Given the description of an element on the screen output the (x, y) to click on. 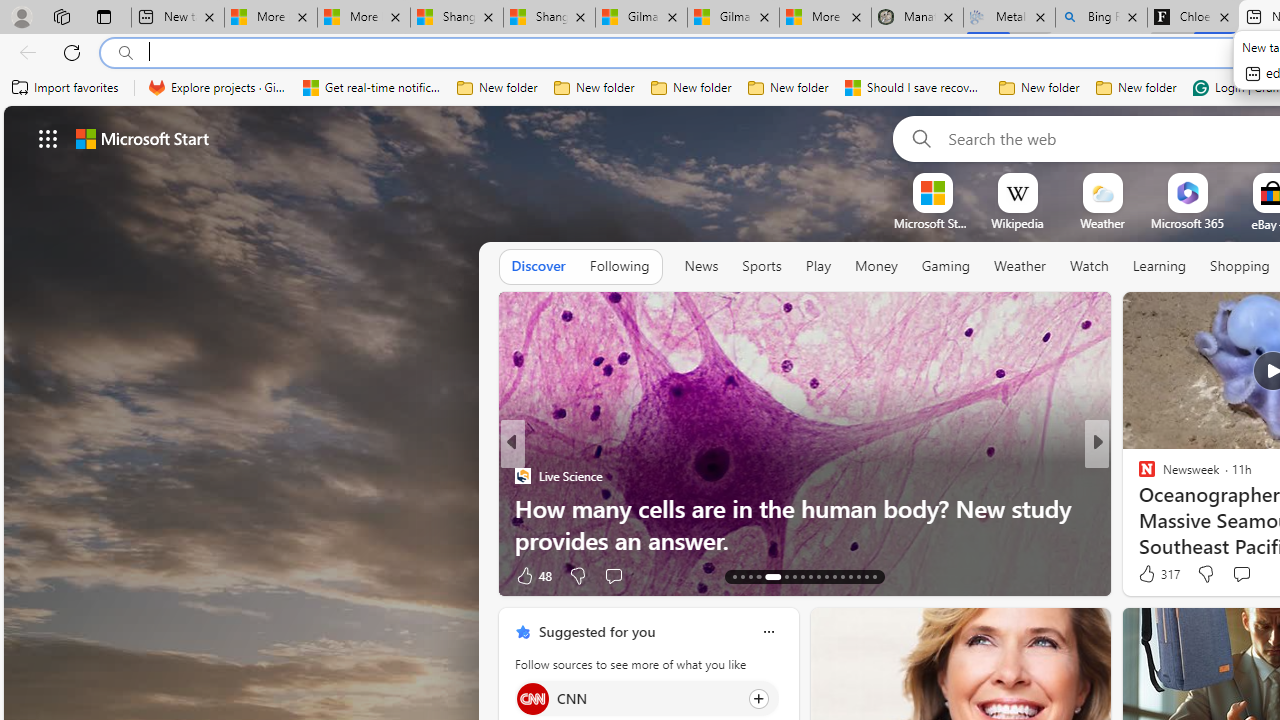
News (701, 265)
Microsoft start (142, 138)
AutomationID: tab-24 (833, 576)
AutomationID: tab-22 (818, 576)
Odd News (1138, 475)
Start the conversation (1241, 573)
317 Like (1157, 574)
AutomationID: tab-17 (772, 576)
AutomationID: tab-23 (825, 576)
AutomationID: tab-13 (733, 576)
View comments 297 Comment (1247, 574)
Learning (1159, 267)
